Given the description of an element on the screen output the (x, y) to click on. 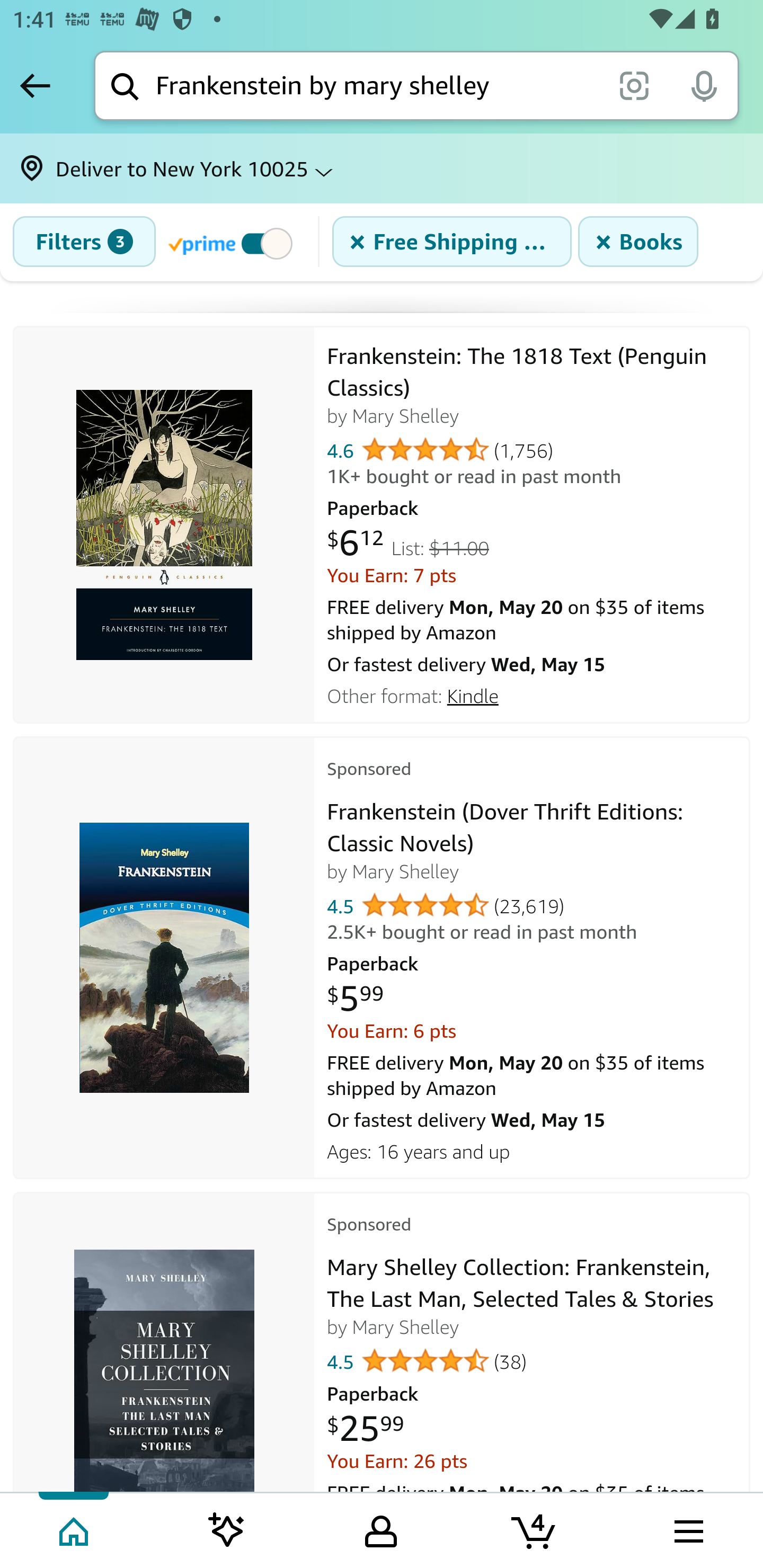
Back (35, 85)
scan it (633, 85)
Deliver to New York 10025 ⌵ (381, 168)
Filters 3 (83, 241)
Toggle to filter by Prime products Prime Eligible (233, 242)
× Books × Books (637, 241)
Frankenstein: The 1818 Text (Penguin Classics) (164, 524)
Ages: 16 years and up (532, 1149)
Home Tab 1 of 5 (75, 1529)
Inspire feed Tab 2 of 5 (227, 1529)
Your Amazon.com Tab 3 of 5 (380, 1529)
Cart 4 items Tab 4 of 5 4 (534, 1529)
Browse menu Tab 5 of 5 (687, 1529)
